Given the description of an element on the screen output the (x, y) to click on. 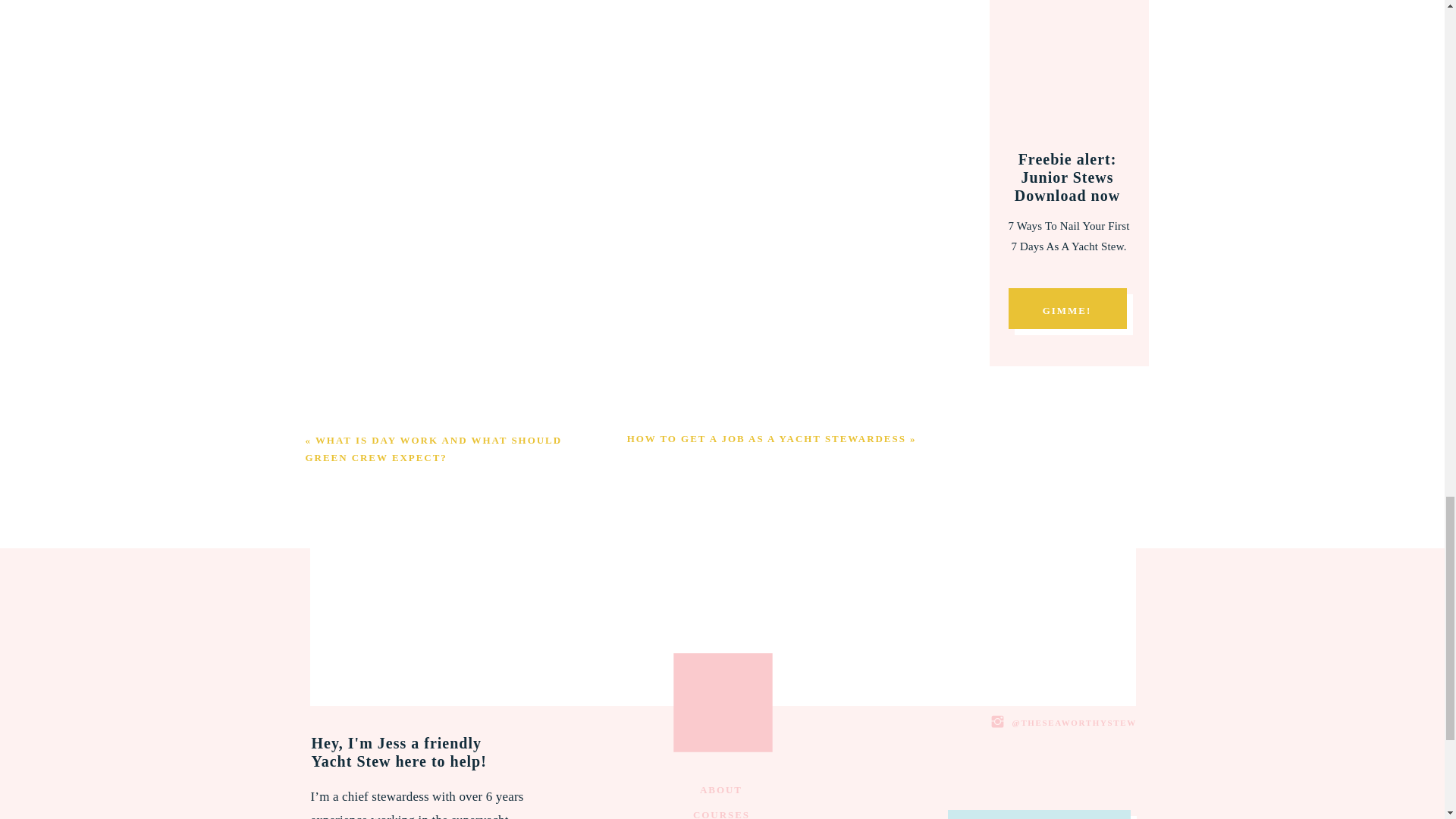
GIMME! (1067, 309)
HOW TO GET A JOB AS A YACHT STEWARDESS (766, 438)
WHAT IS DAY WORK AND WHAT SHOULD GREEN CREW EXPECT? (433, 448)
